Given the description of an element on the screen output the (x, y) to click on. 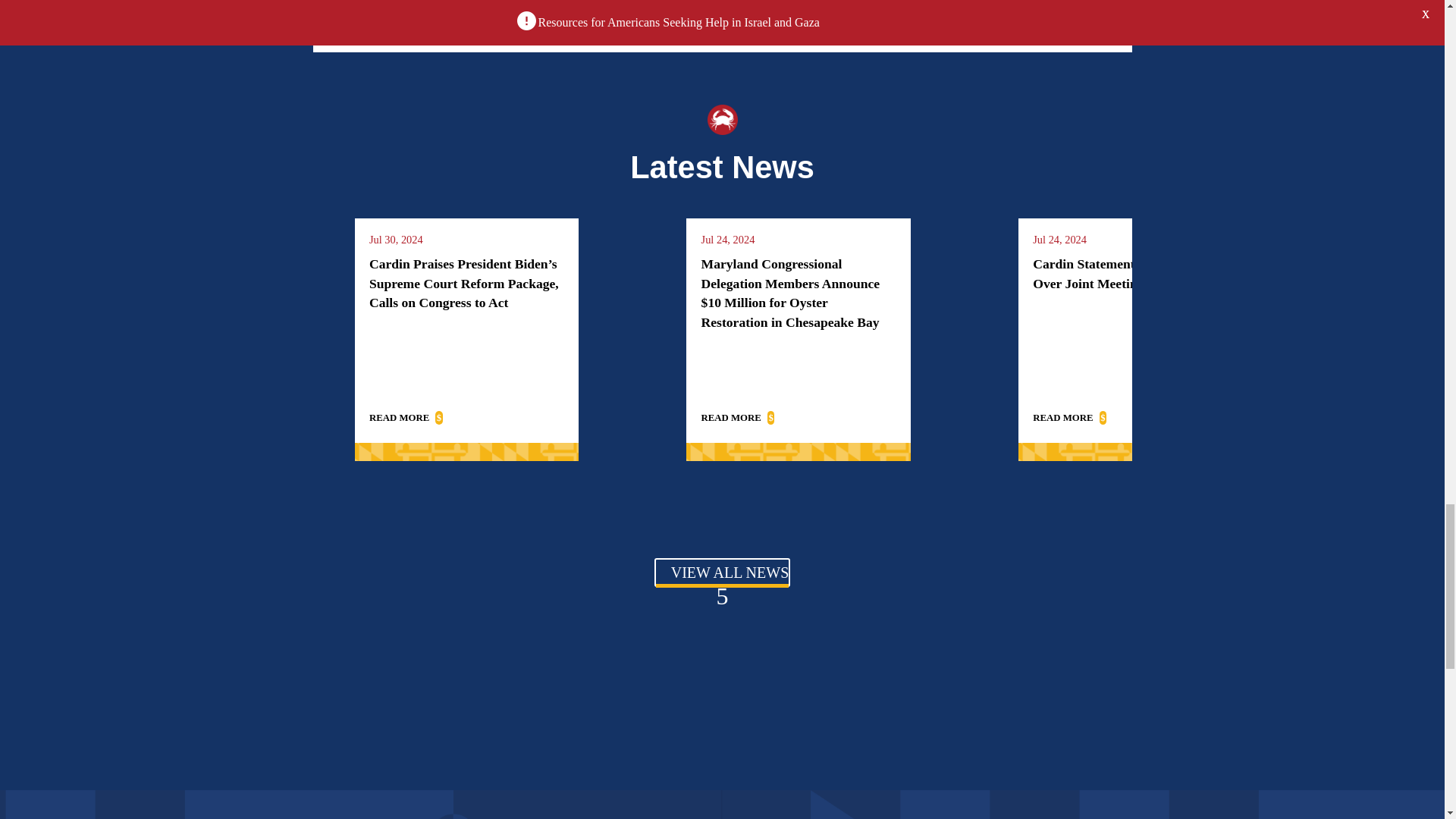
Crab (721, 119)
